Given the description of an element on the screen output the (x, y) to click on. 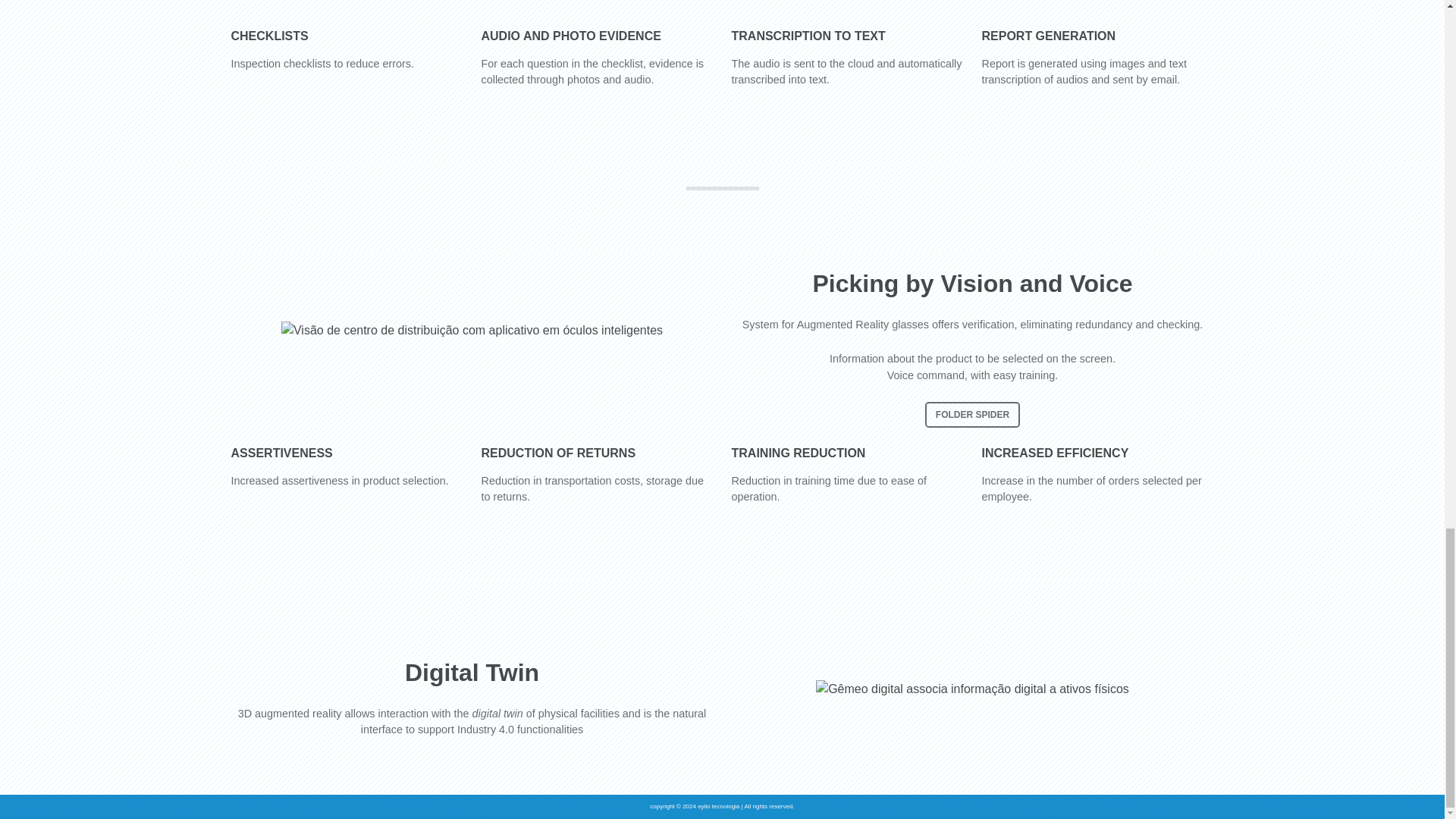
FOLDER SPIDER (972, 414)
